Given the description of an element on the screen output the (x, y) to click on. 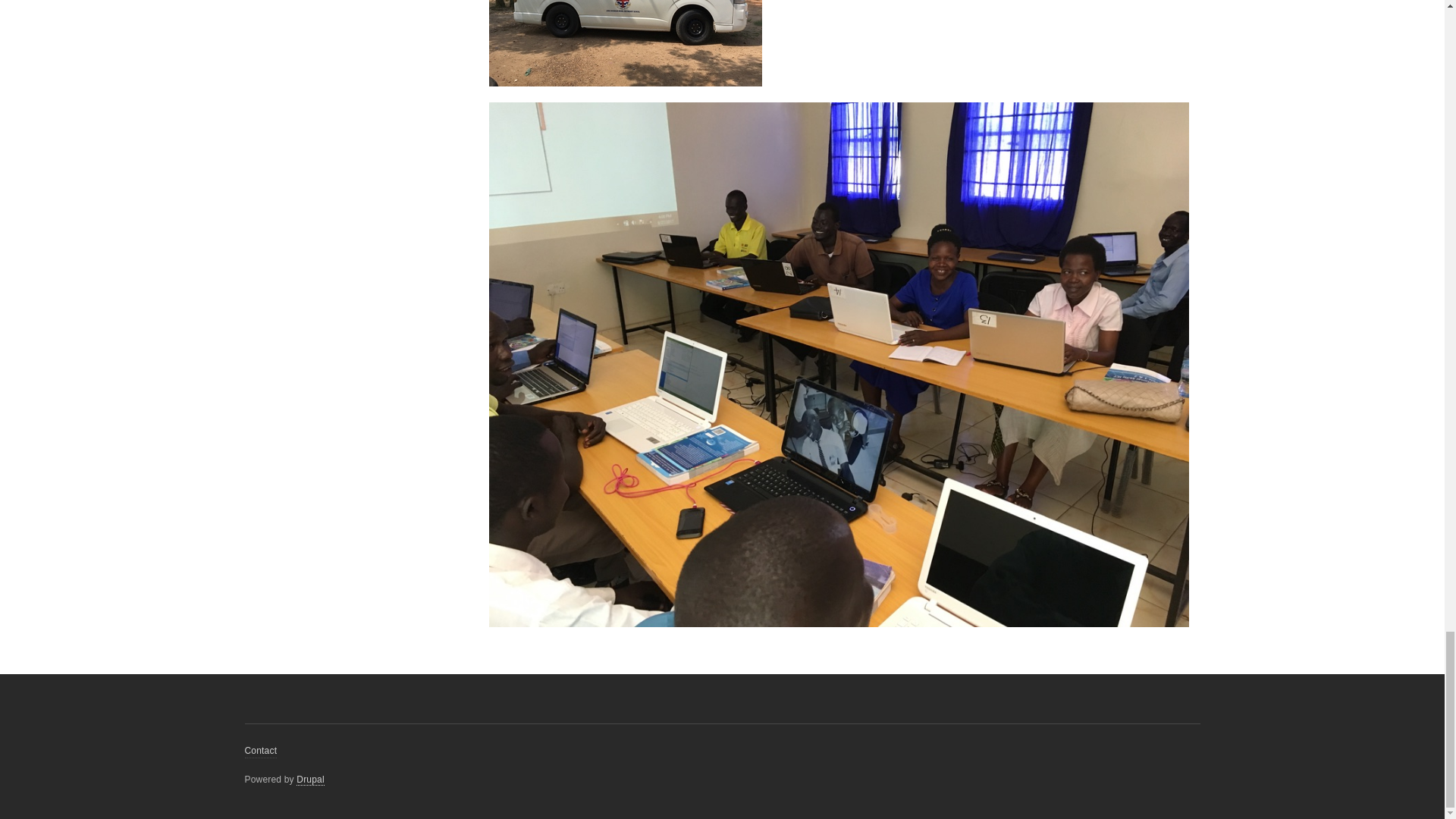
Drupal (310, 779)
Contact (260, 750)
